Given the description of an element on the screen output the (x, y) to click on. 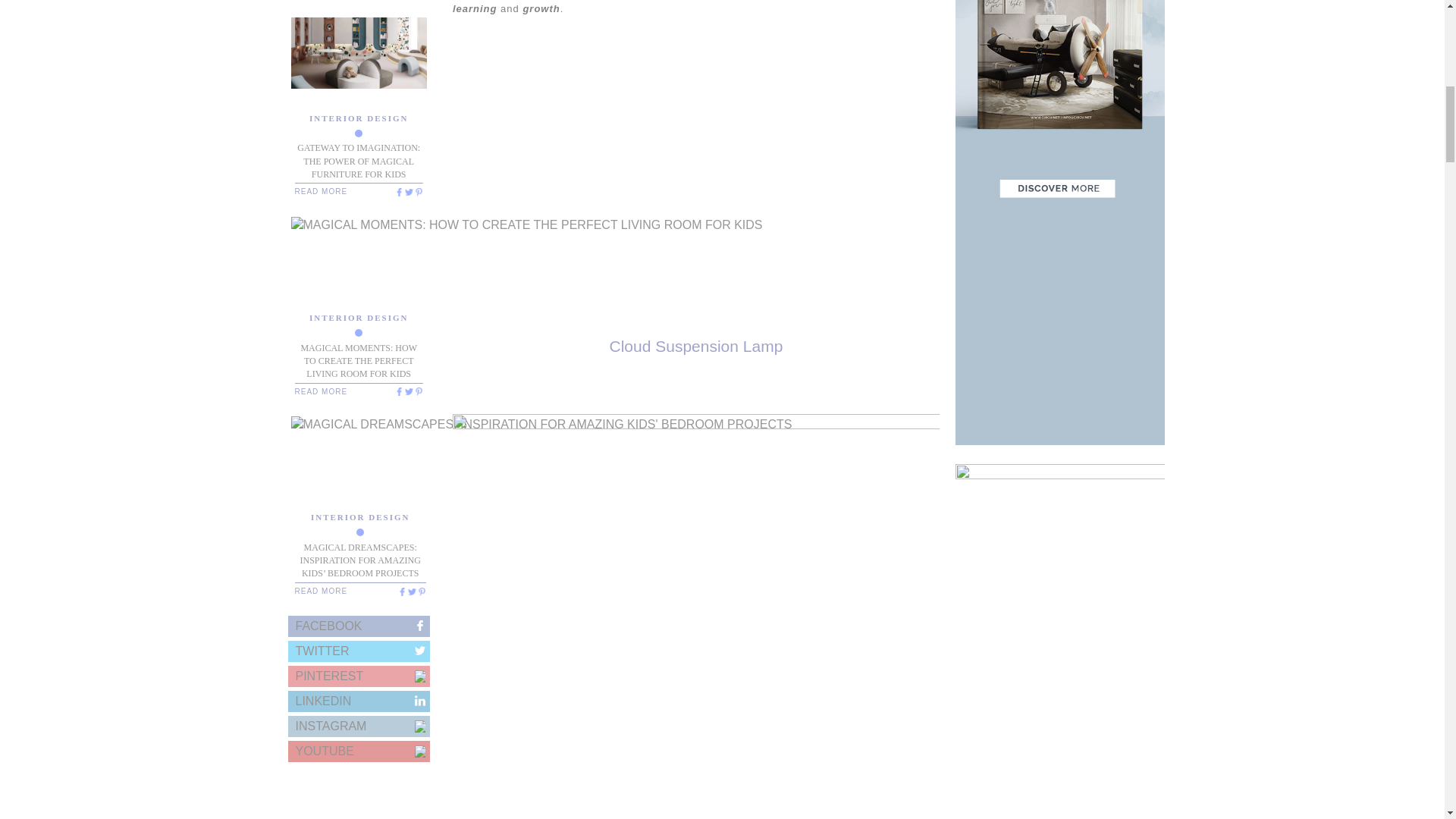
circudesign (398, 191)
